Given the description of an element on the screen output the (x, y) to click on. 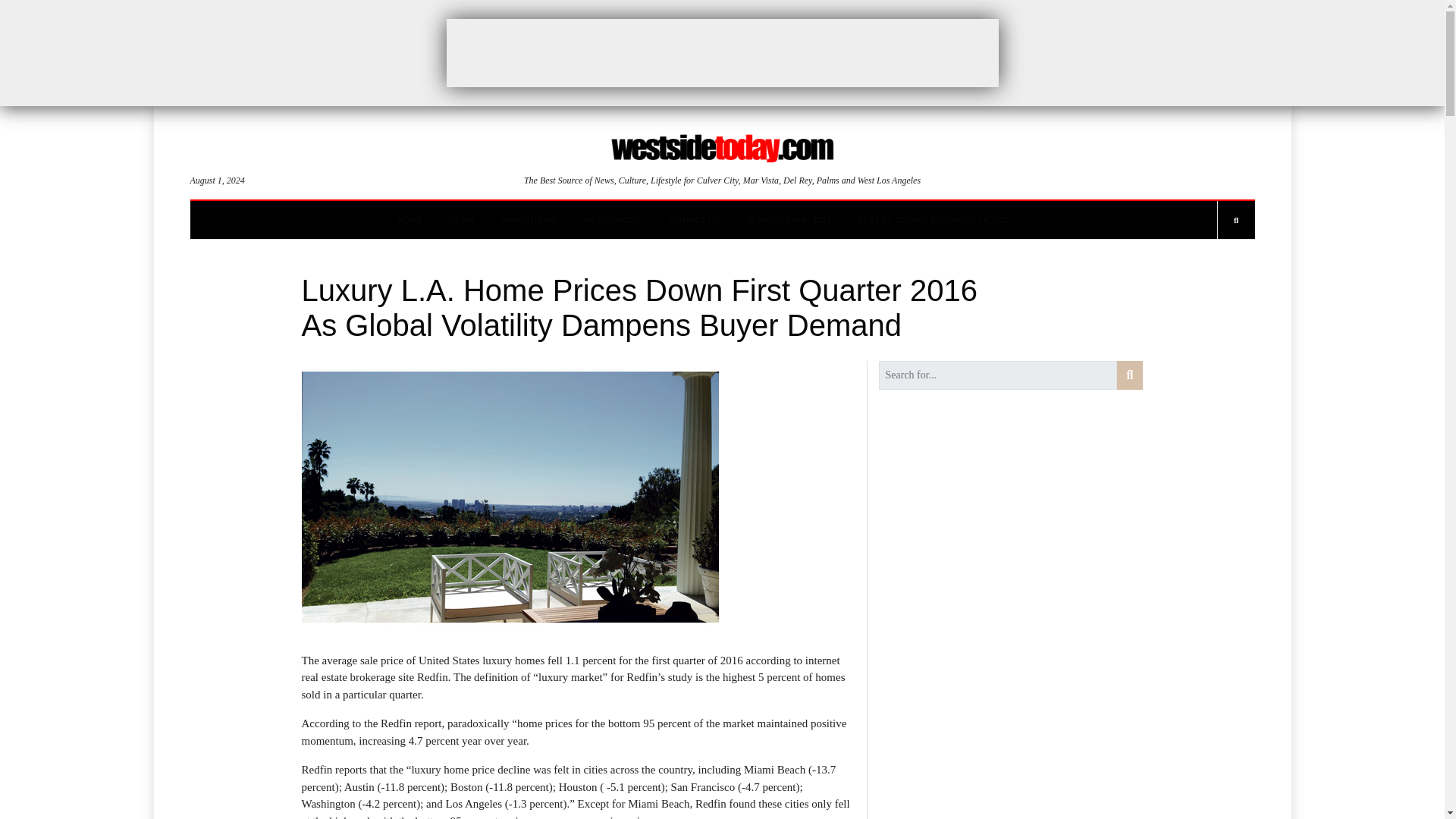
SUMMER CAMP 2024 (787, 219)
CONTACT US (693, 219)
3rd party ad content (721, 52)
ADVERTISING (528, 219)
PR SERVICES (611, 219)
